Given the description of an element on the screen output the (x, y) to click on. 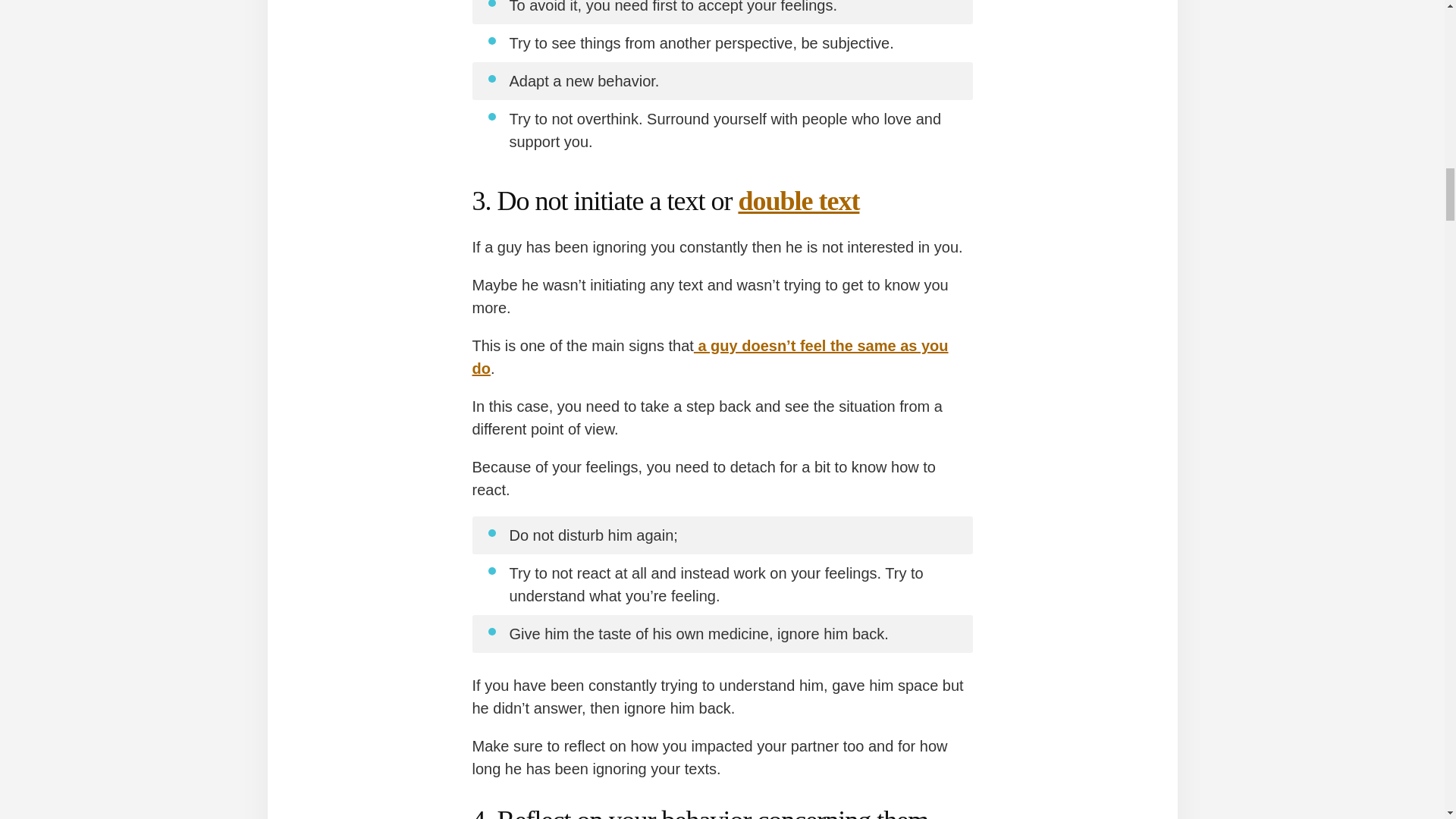
double text (798, 200)
